Given the description of an element on the screen output the (x, y) to click on. 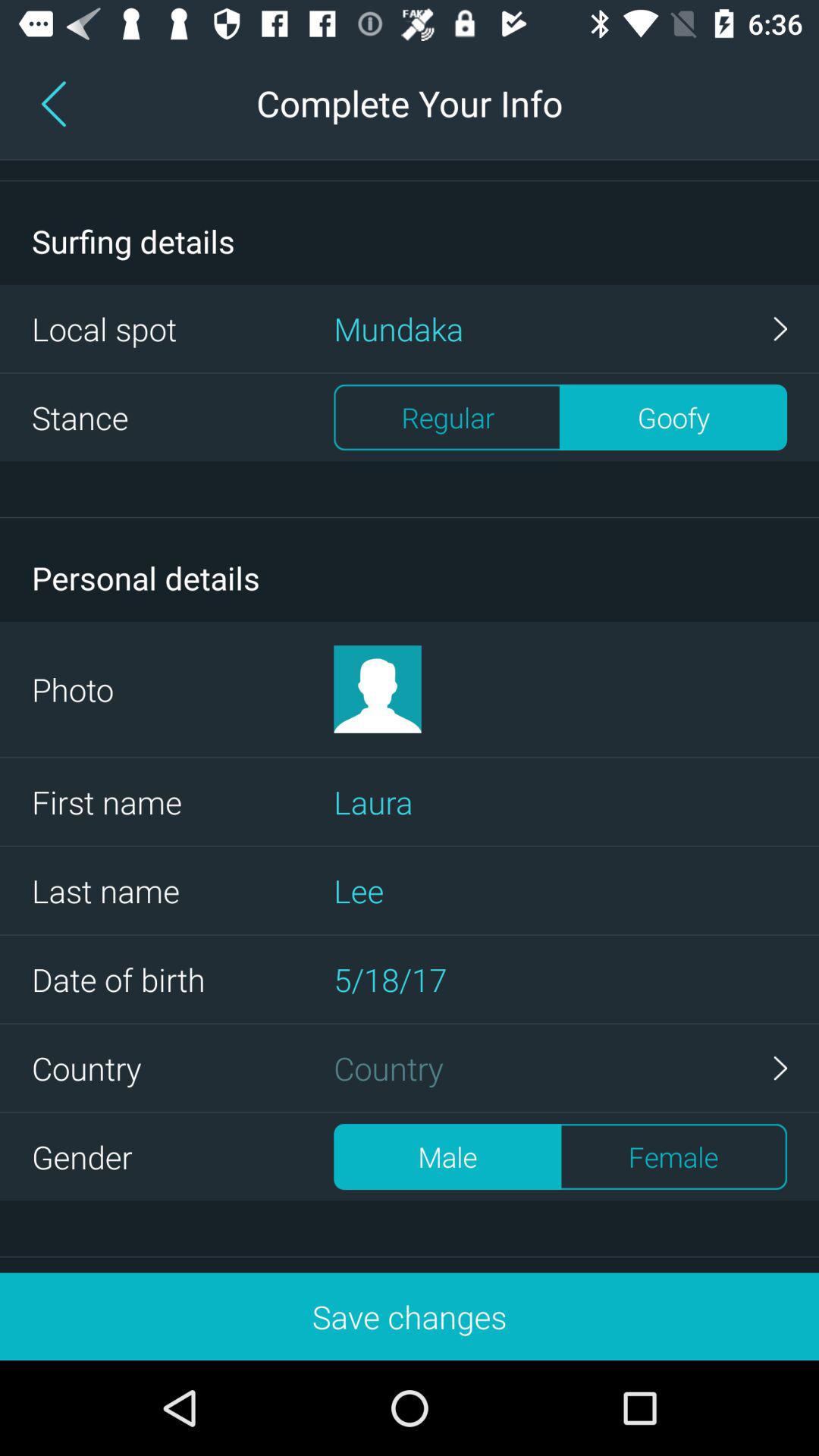
set your country (560, 1067)
